Given the description of an element on the screen output the (x, y) to click on. 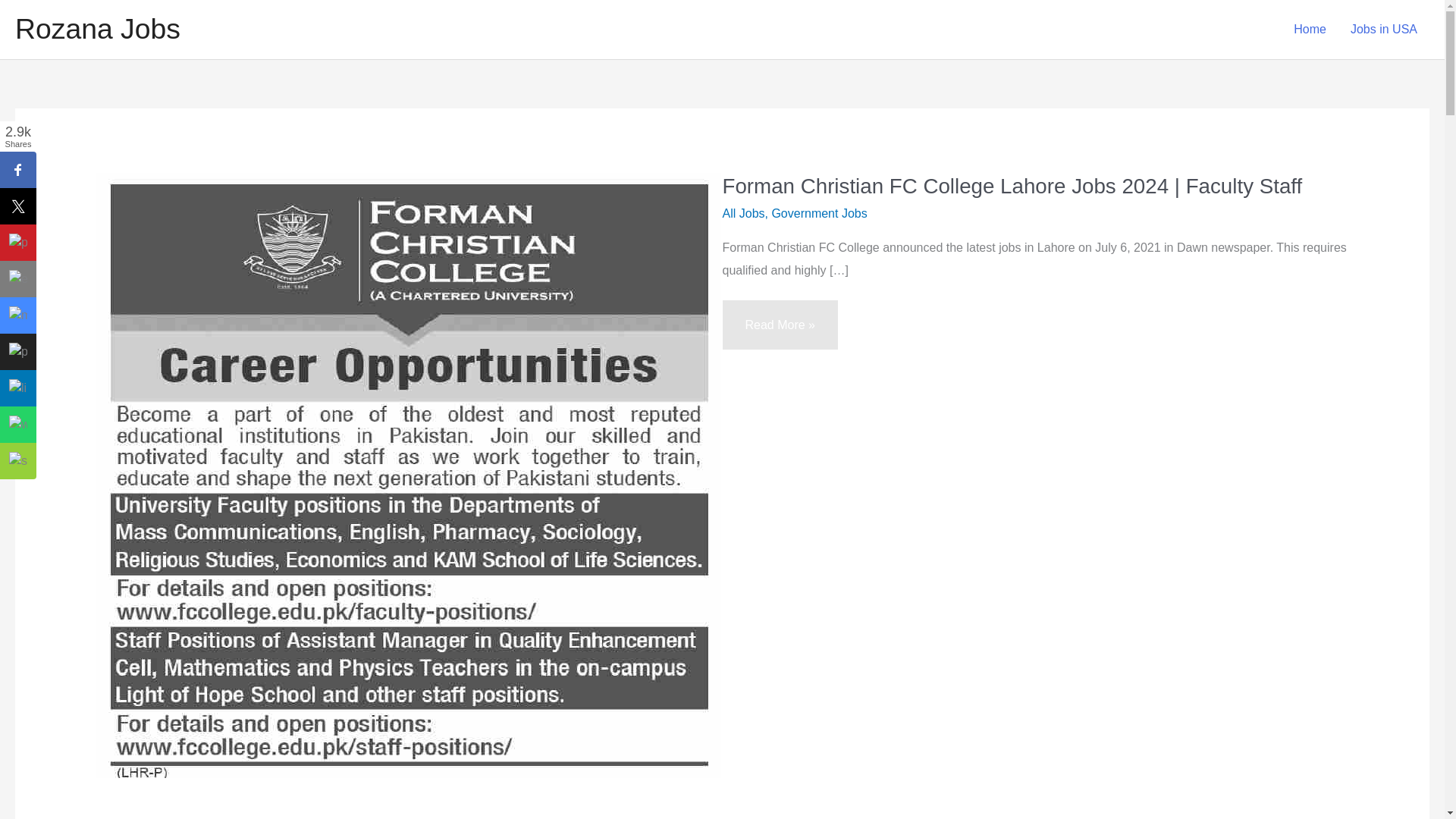
Jobs in USA (1383, 29)
Home (1309, 29)
Rozana Jobs (97, 29)
All Jobs (743, 213)
Government Jobs (818, 213)
